Given the description of an element on the screen output the (x, y) to click on. 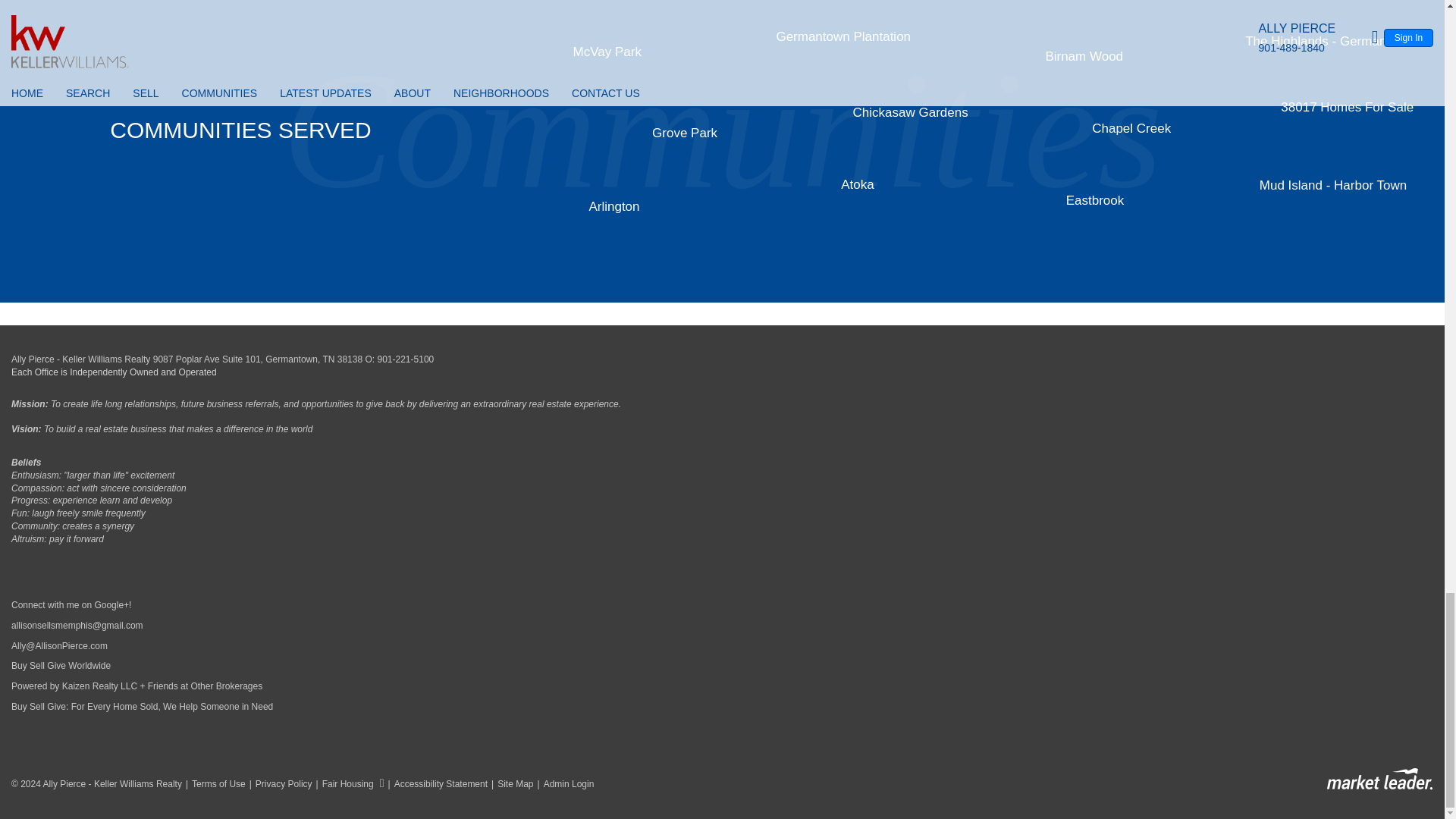
Birnam Wood (1083, 56)
Chapel Creek (1131, 128)
38017 Homes For Sale (1347, 106)
Powered By Market Leader (1379, 779)
Grove Park (684, 133)
The Highlands - Germantown (1328, 41)
Germantown Plantation (843, 36)
Chickasaw Gardens (910, 112)
McVay Park (607, 51)
